Given the description of an element on the screen output the (x, y) to click on. 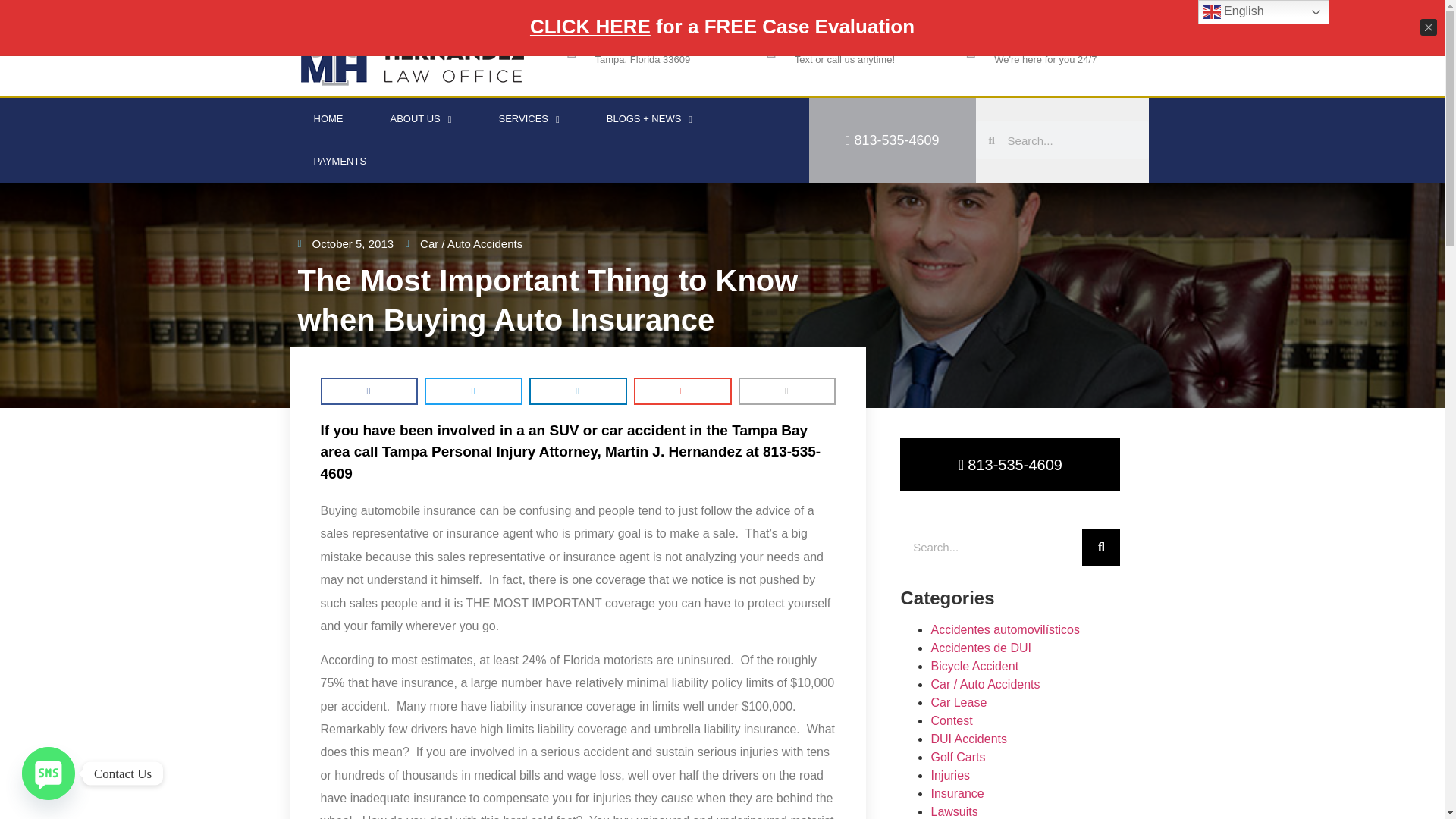
PAYMENTS (339, 161)
HOME (327, 118)
ABOUT US (421, 118)
SERVICES (528, 118)
